Given the description of an element on the screen output the (x, y) to click on. 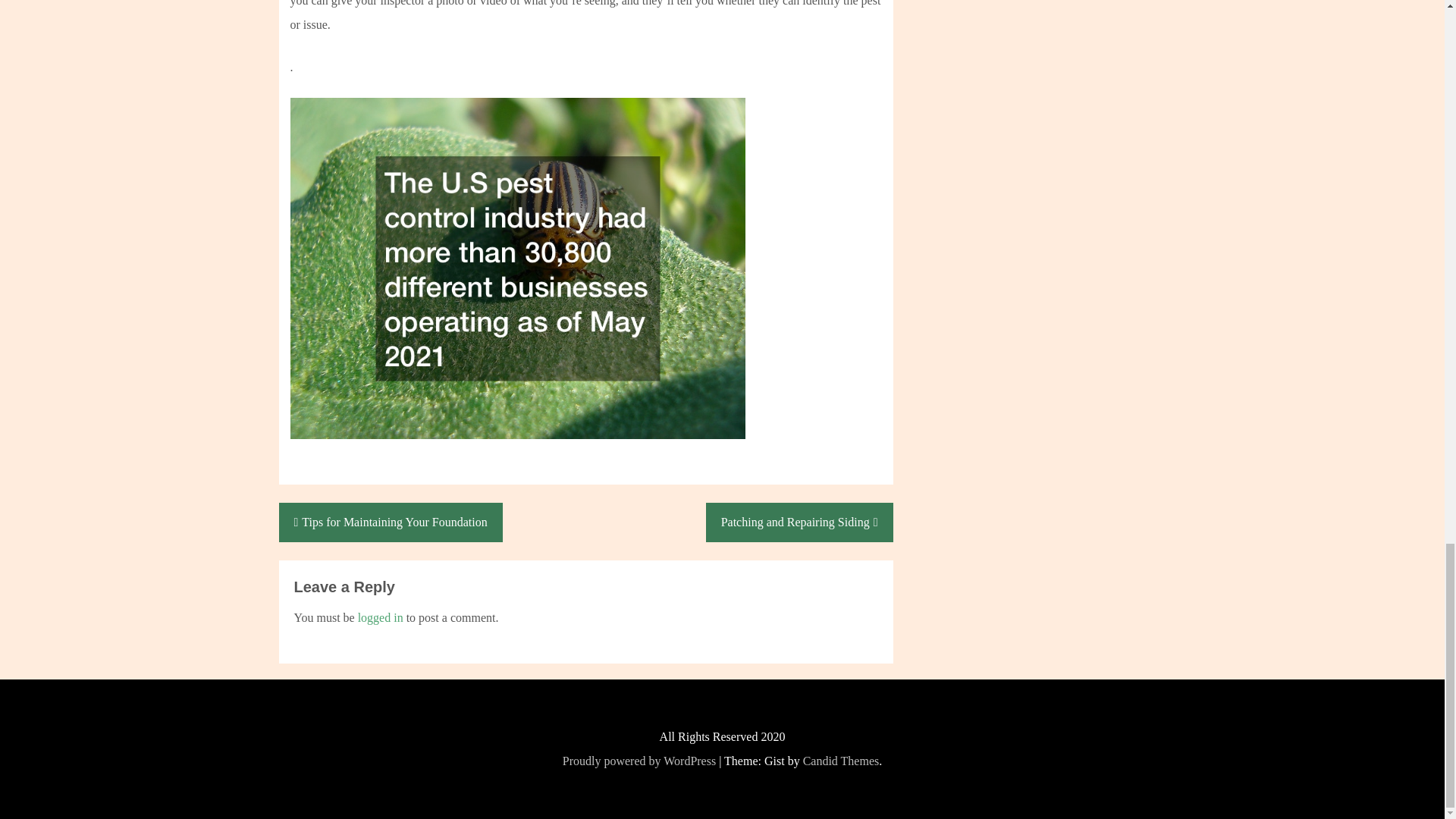
logged in (380, 617)
Tips for Maintaining Your Foundation (390, 522)
Patching and Repairing Siding (799, 522)
